Given the description of an element on the screen output the (x, y) to click on. 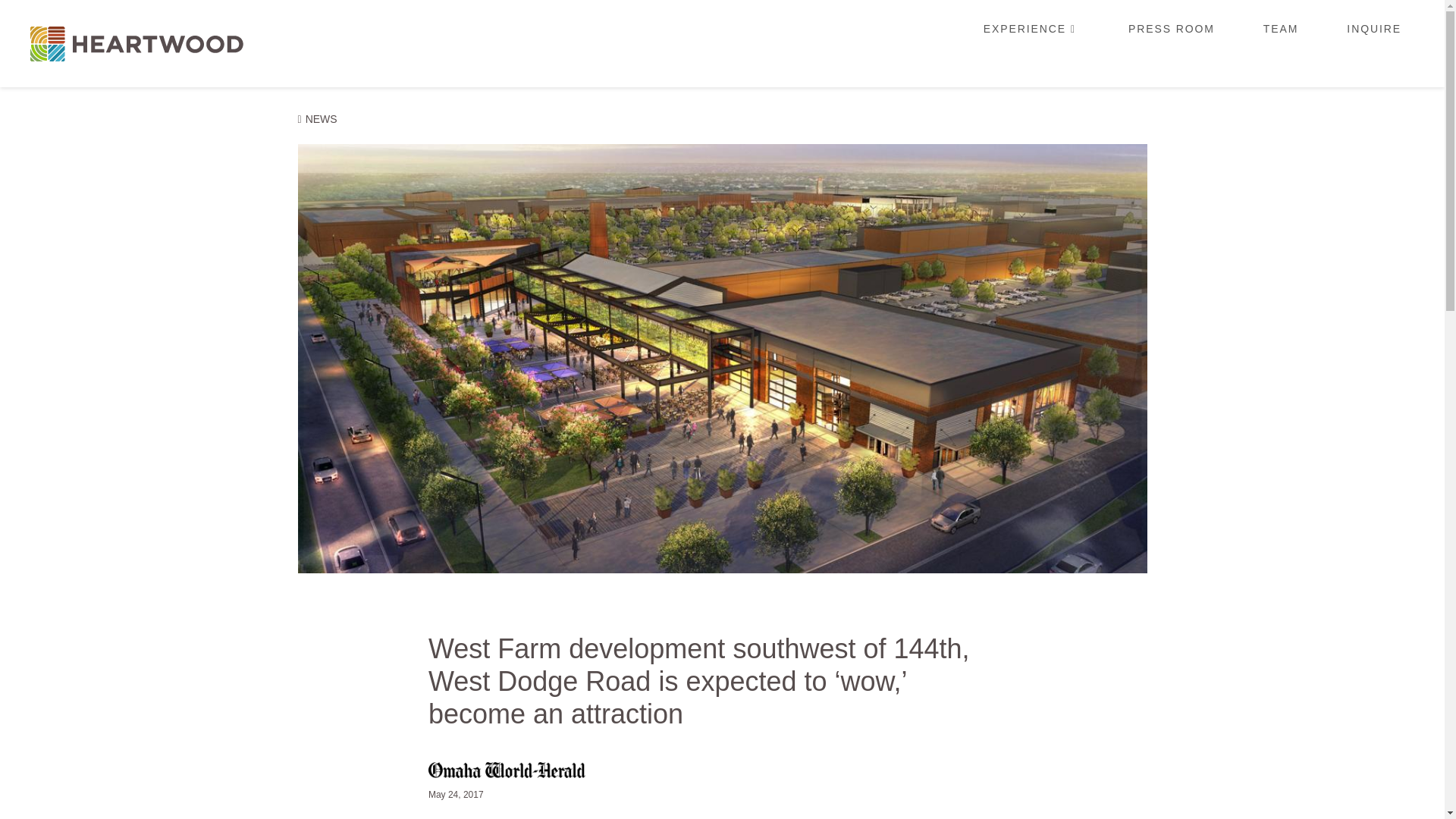
INQUIRE (1373, 43)
PRESS ROOM (1171, 43)
TEAM (1281, 43)
EXPERIENCE (1031, 43)
NEWS (317, 119)
